Given the description of an element on the screen output the (x, y) to click on. 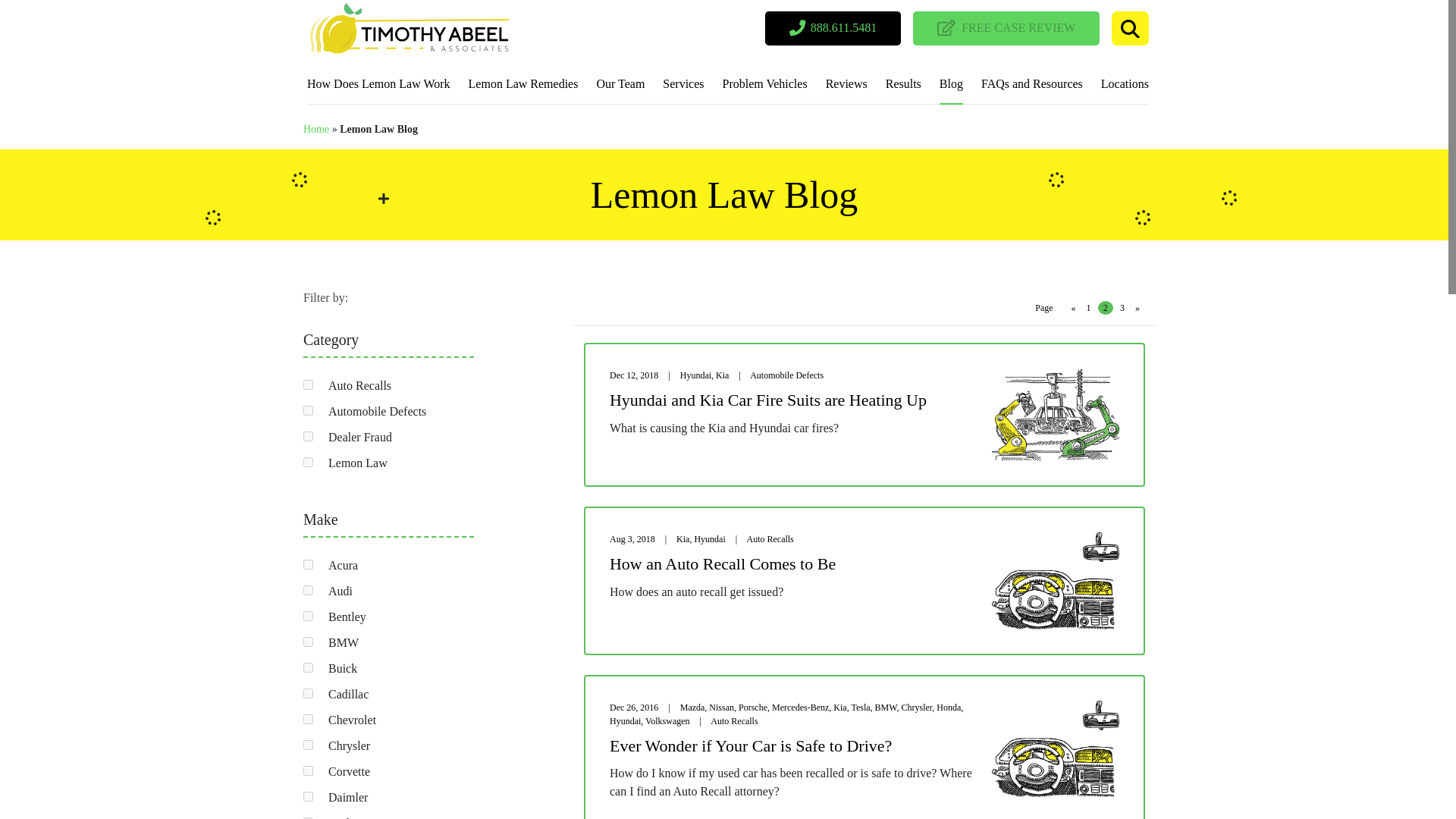
471 (307, 615)
auto-recalls (307, 384)
dealer-fraud (307, 436)
How Does Lemon Law Work (378, 86)
888.611.5481 (832, 28)
444 (307, 667)
505 (307, 564)
automobile-defects (307, 410)
Search (1130, 28)
350 (307, 796)
451 (307, 770)
FREE CASE REVIEW (1005, 28)
Lemon Law Remedies (523, 86)
14 (307, 642)
